Given the description of an element on the screen output the (x, y) to click on. 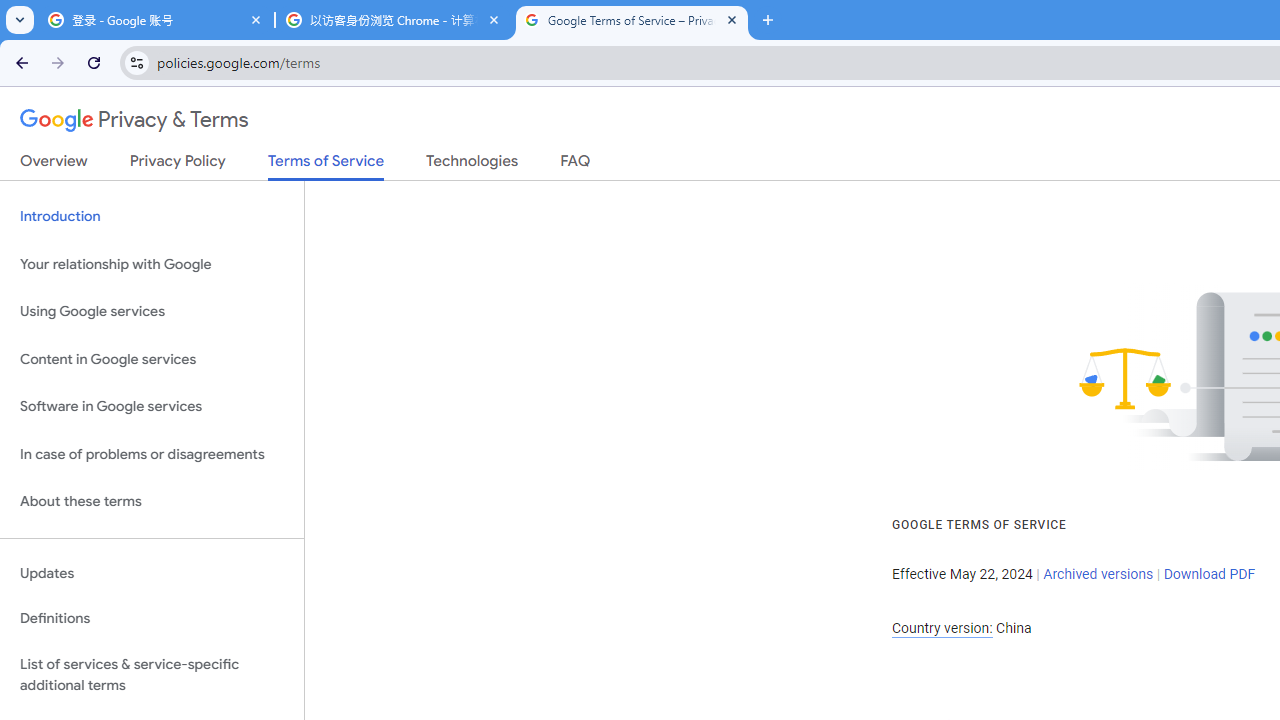
About these terms (152, 502)
Download PDF (1209, 574)
In case of problems or disagreements (152, 453)
